Given the description of an element on the screen output the (x, y) to click on. 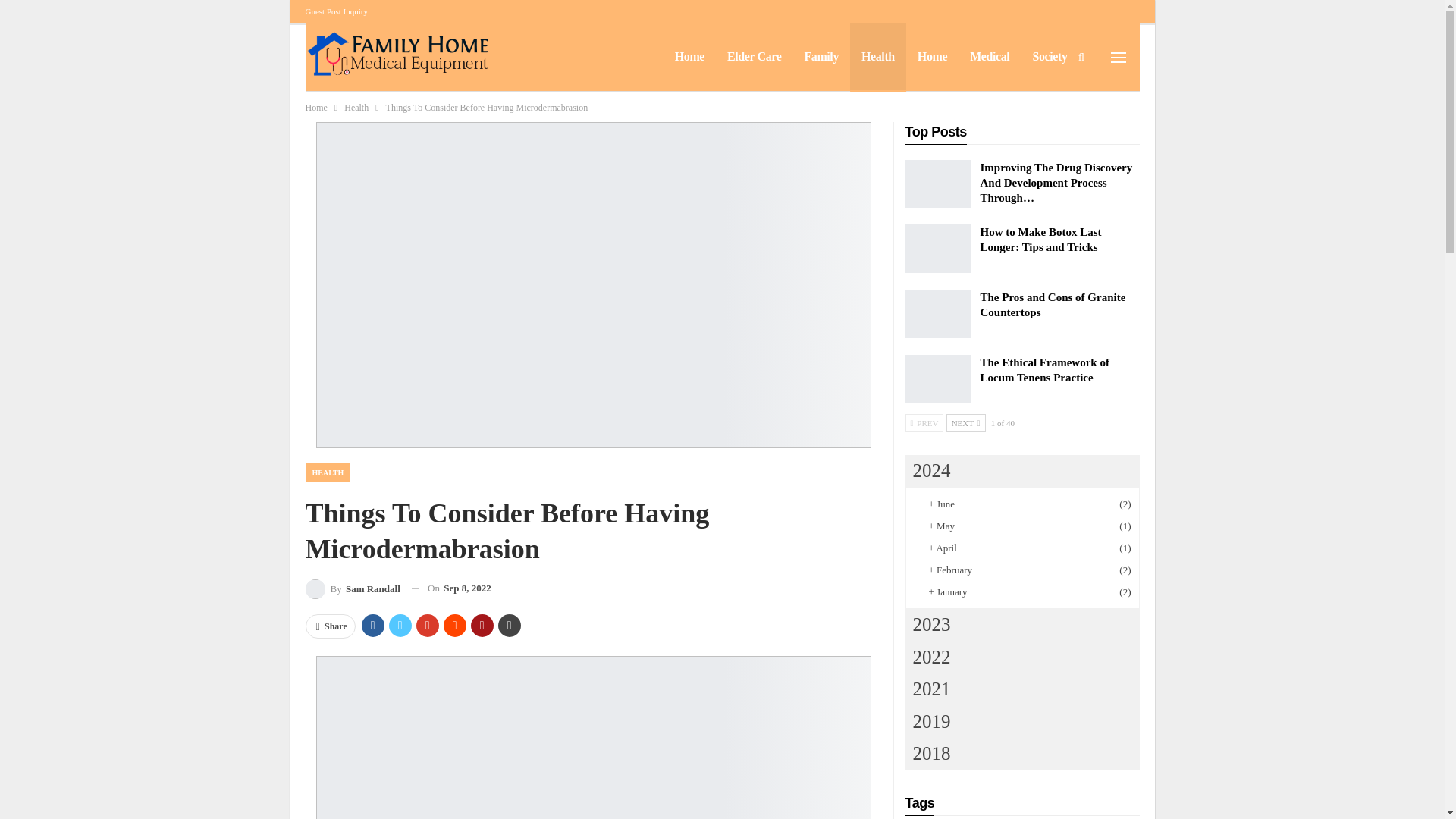
HEALTH (327, 472)
Family (821, 56)
Health (877, 56)
Home (315, 107)
Elder Care (754, 56)
Health (355, 107)
Guest Post Inquiry (336, 10)
Home (689, 56)
Society (1049, 56)
Browse Author Articles (351, 588)
By Sam Randall (351, 588)
Medical (989, 56)
Home (931, 56)
